Given the description of an element on the screen output the (x, y) to click on. 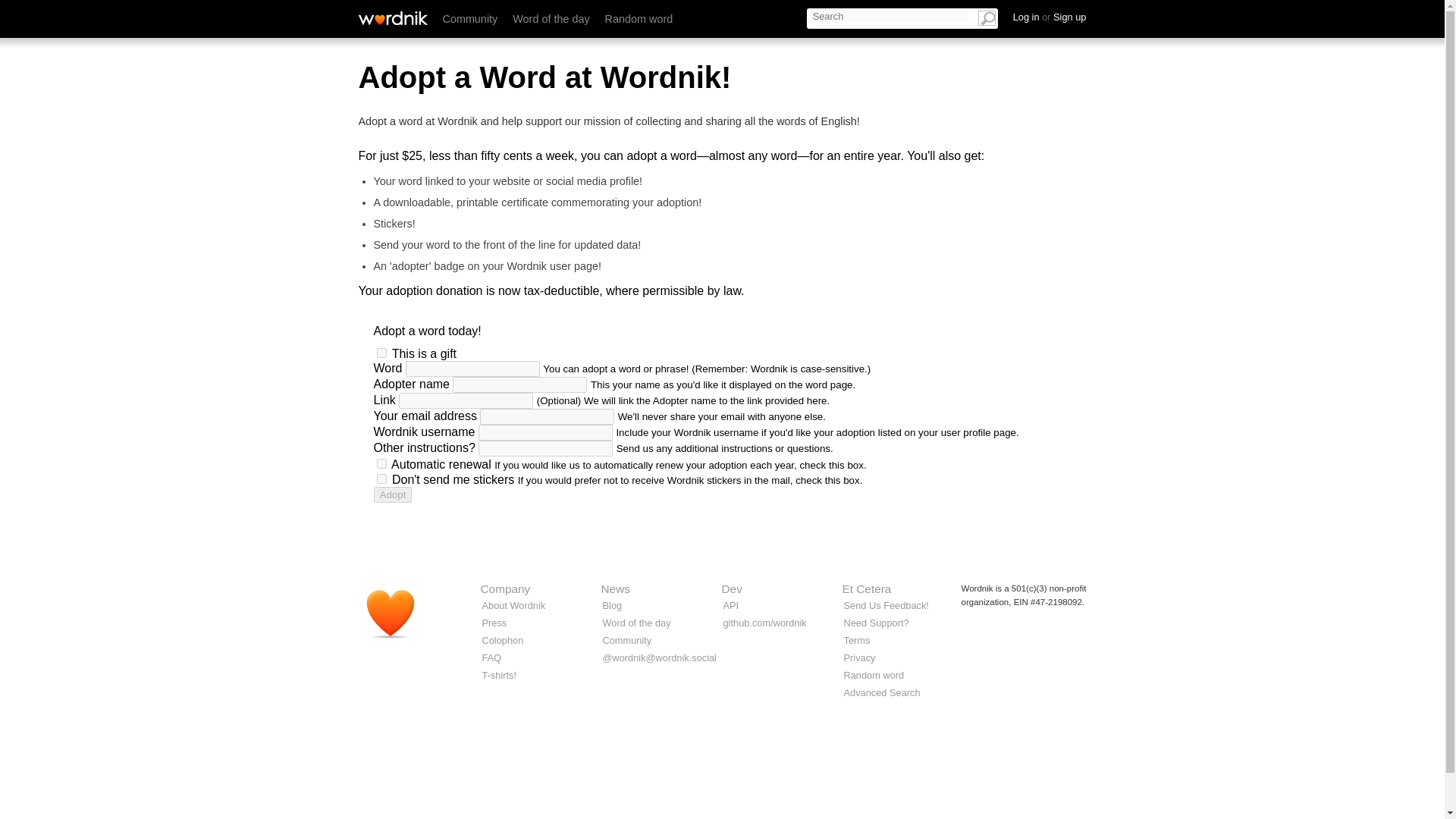
Community (626, 640)
About Wordnik (513, 604)
About Wordnik (513, 604)
Word of the day (635, 622)
Press (493, 622)
Advanced Search (881, 692)
Word of the day (550, 19)
Blog (611, 604)
Company (505, 588)
FAQ (491, 657)
Log in or Sign up (1049, 16)
Colophon (502, 640)
Adopt (392, 494)
Random word (873, 674)
Dev (732, 588)
